Given the description of an element on the screen output the (x, y) to click on. 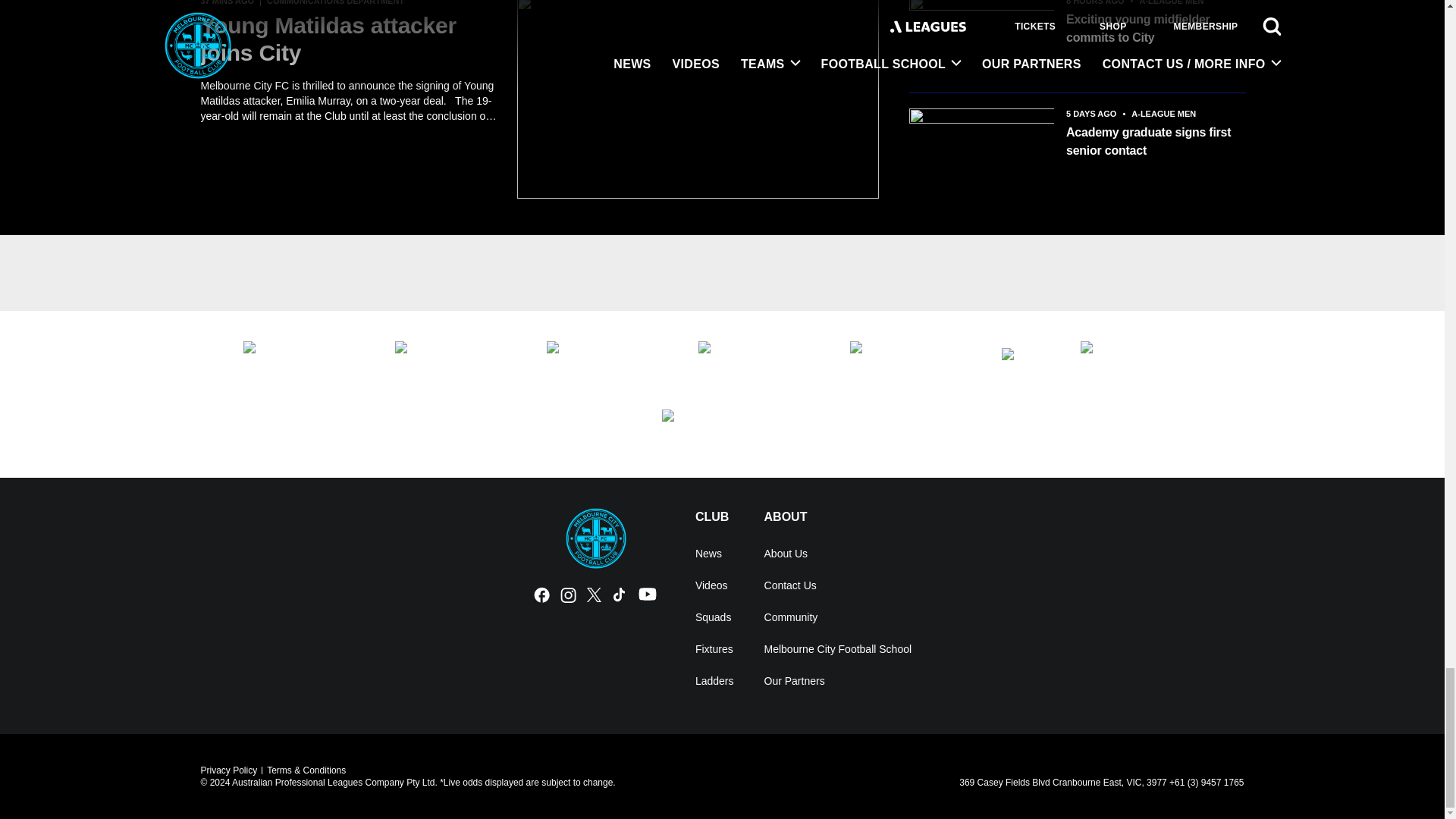
Asahi Super Dry (454, 360)
Hostplus (606, 360)
Etihad Airways (303, 360)
Nissan (909, 360)
Origin (1140, 360)
Nostra (1025, 360)
PUMA (722, 428)
